Given the description of an element on the screen output the (x, y) to click on. 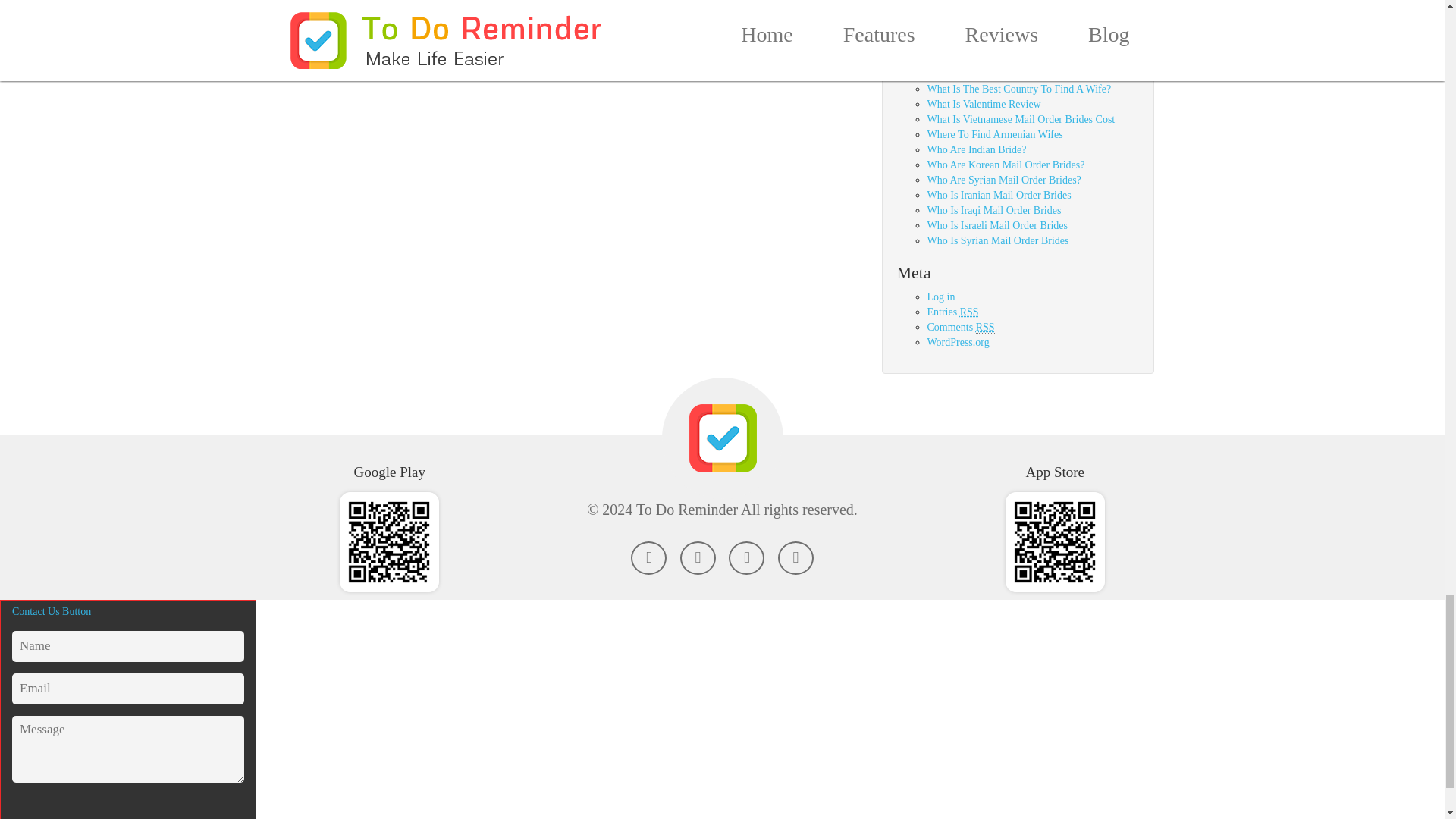
Really Simple Syndication (968, 312)
Really Simple Syndication (984, 327)
